Given the description of an element on the screen output the (x, y) to click on. 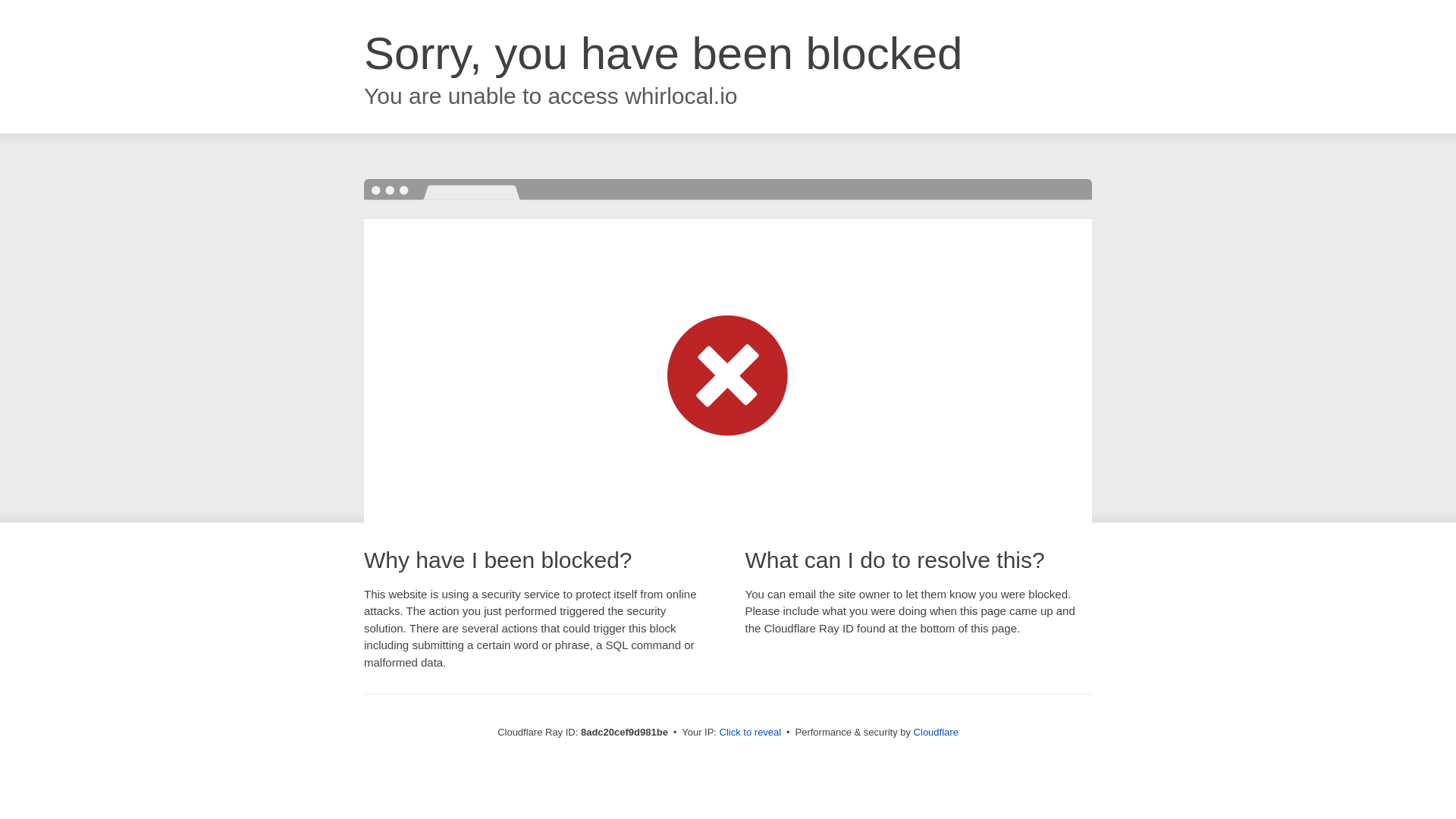
Click to reveal (750, 732)
Cloudflare (936, 731)
